Given the description of an element on the screen output the (x, y) to click on. 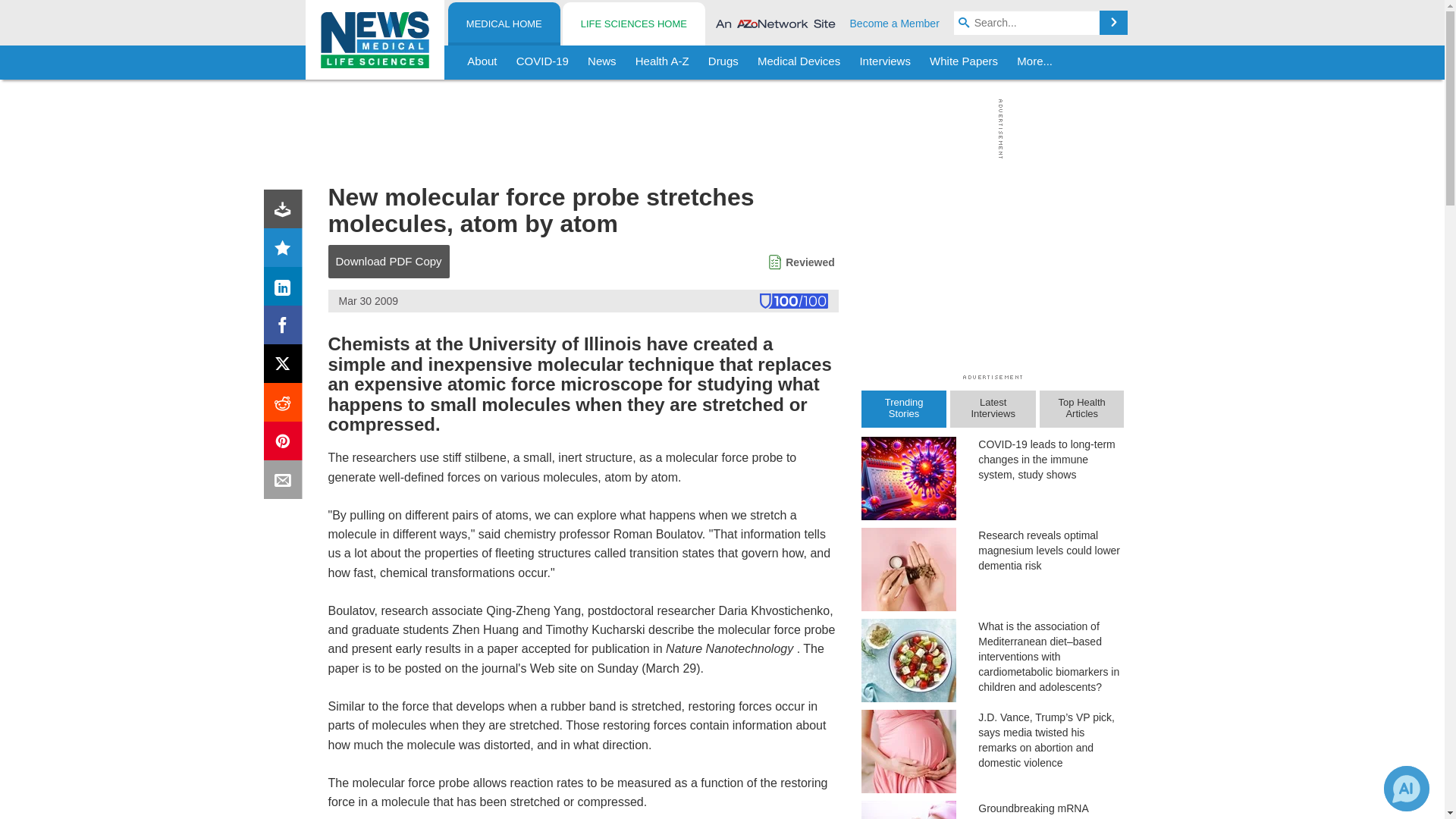
Become a Member (894, 22)
Email (285, 483)
Health A-Z (662, 62)
Drugs (722, 62)
Download PDF copy (285, 212)
MEDICAL HOME (504, 23)
Reddit (285, 405)
X (285, 366)
Pinterest (285, 443)
About (482, 62)
Interviews (884, 62)
White Papers (963, 62)
COVID-19 (542, 62)
Rating (285, 250)
